Given the description of an element on the screen output the (x, y) to click on. 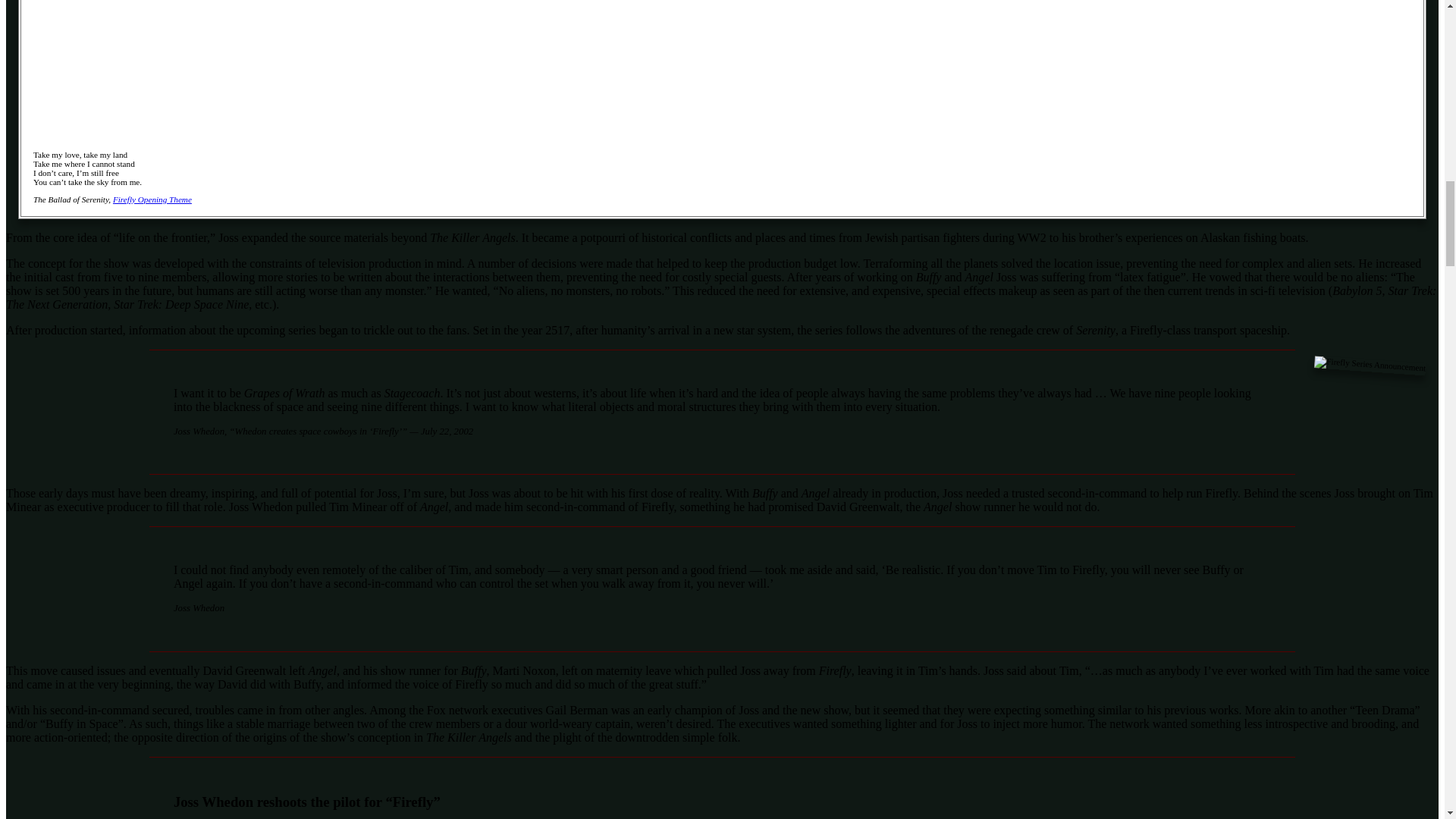
Firefly Opening Theme (152, 198)
